Given the description of an element on the screen output the (x, y) to click on. 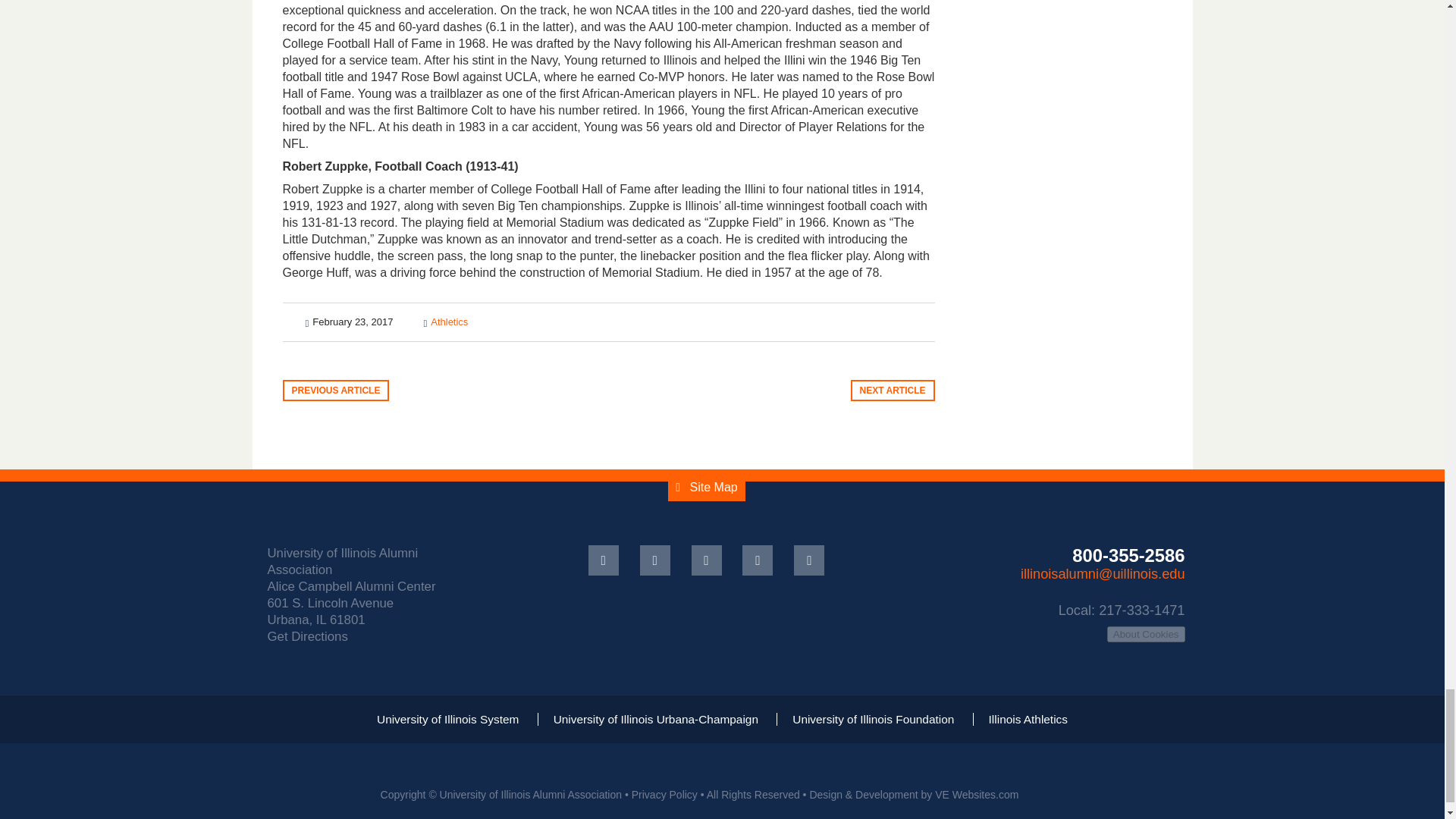
Instagram (808, 560)
Facebook (603, 560)
Flickr (757, 560)
Linkedin (706, 560)
Twitter (654, 560)
